Given the description of an element on the screen output the (x, y) to click on. 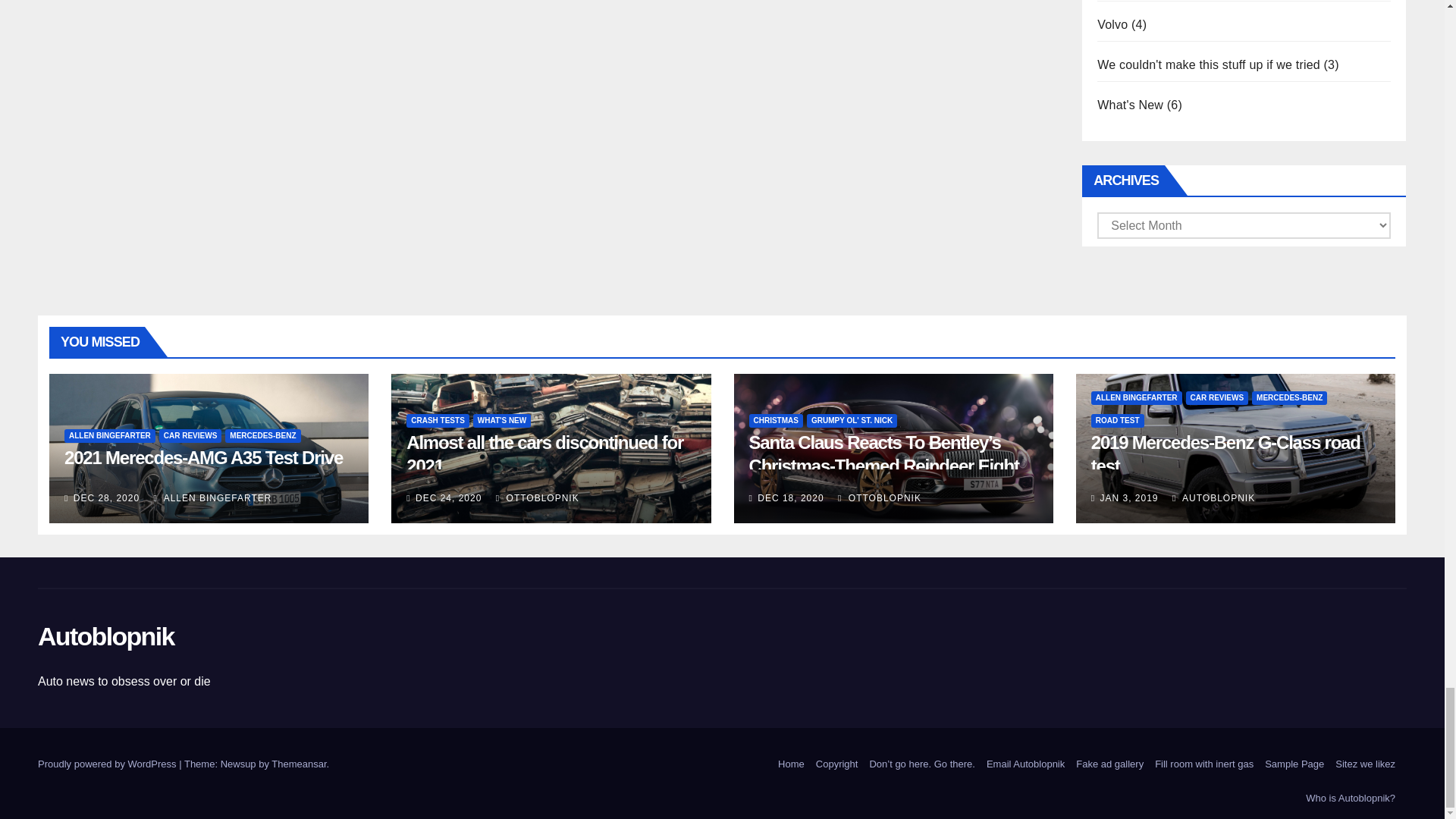
Permalink to: 2021 Merecdes-AMG A35 Test Drive (203, 457)
Permalink to: Almost all the cars discontinued for 2021 (544, 453)
Home (791, 763)
Permalink to: 2019 Mercedes-Benz G-Class road test (1224, 453)
